Given the description of an element on the screen output the (x, y) to click on. 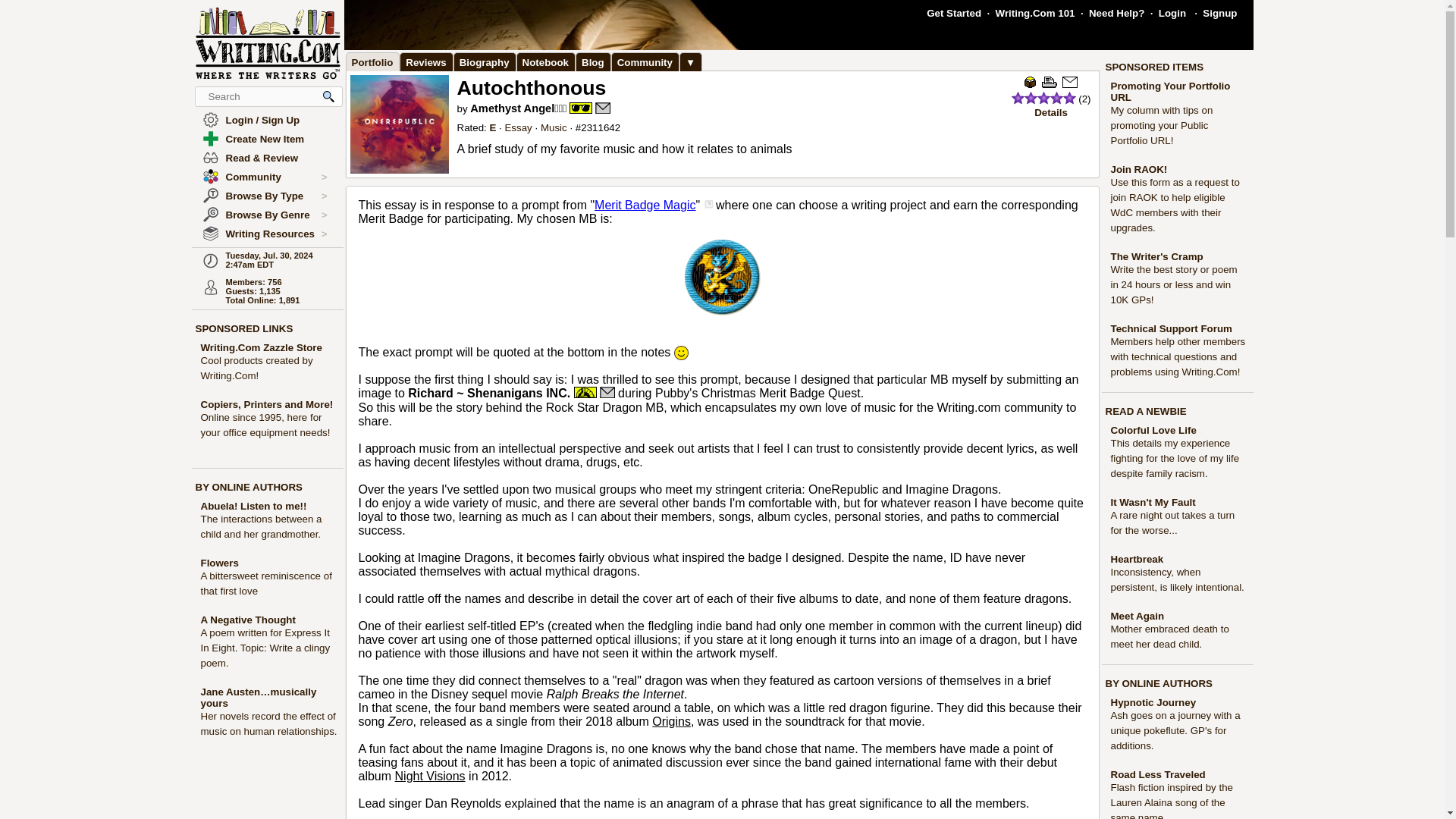
Writing.Com 101 (1035, 12)
Signup (1219, 12)
Magnify (328, 96)
Need Help? (1116, 12)
Login (1172, 12)
Get Started (953, 12)
Create New Item (264, 138)
